Given the description of an element on the screen output the (x, y) to click on. 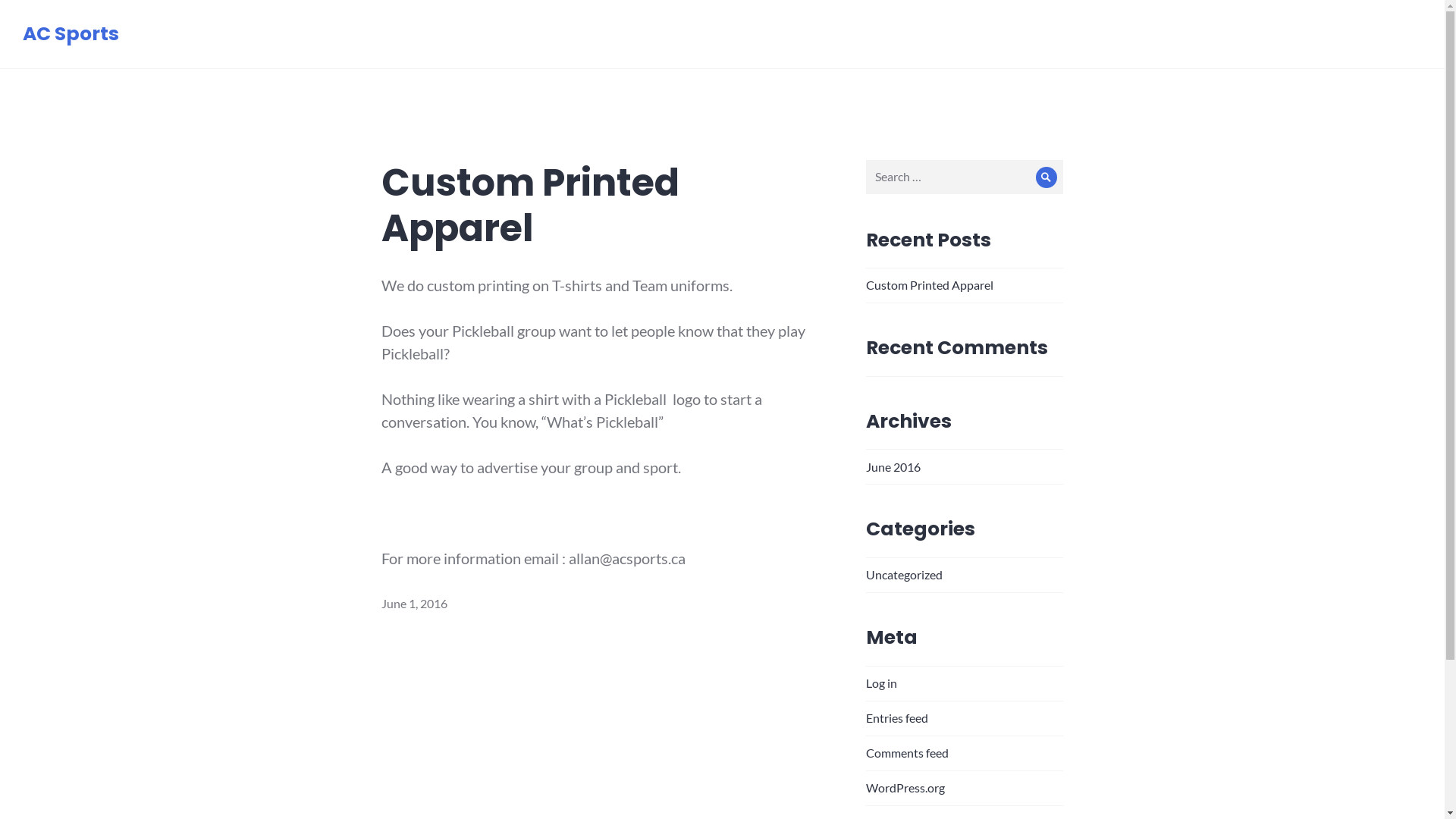
June 2016 Element type: text (893, 466)
June 1, 2016 Element type: text (413, 603)
Custom Printed Apparel Element type: text (929, 284)
Uncategorized Element type: text (904, 574)
Comments feed Element type: text (907, 752)
Entries feed Element type: text (897, 717)
Log in Element type: text (881, 682)
Custom Printed Apparel Element type: text (529, 205)
Search for: Element type: hover (964, 177)
Search Element type: text (1046, 177)
WordPress.org Element type: text (905, 787)
AC Sports Element type: text (70, 33)
